Given the description of an element on the screen output the (x, y) to click on. 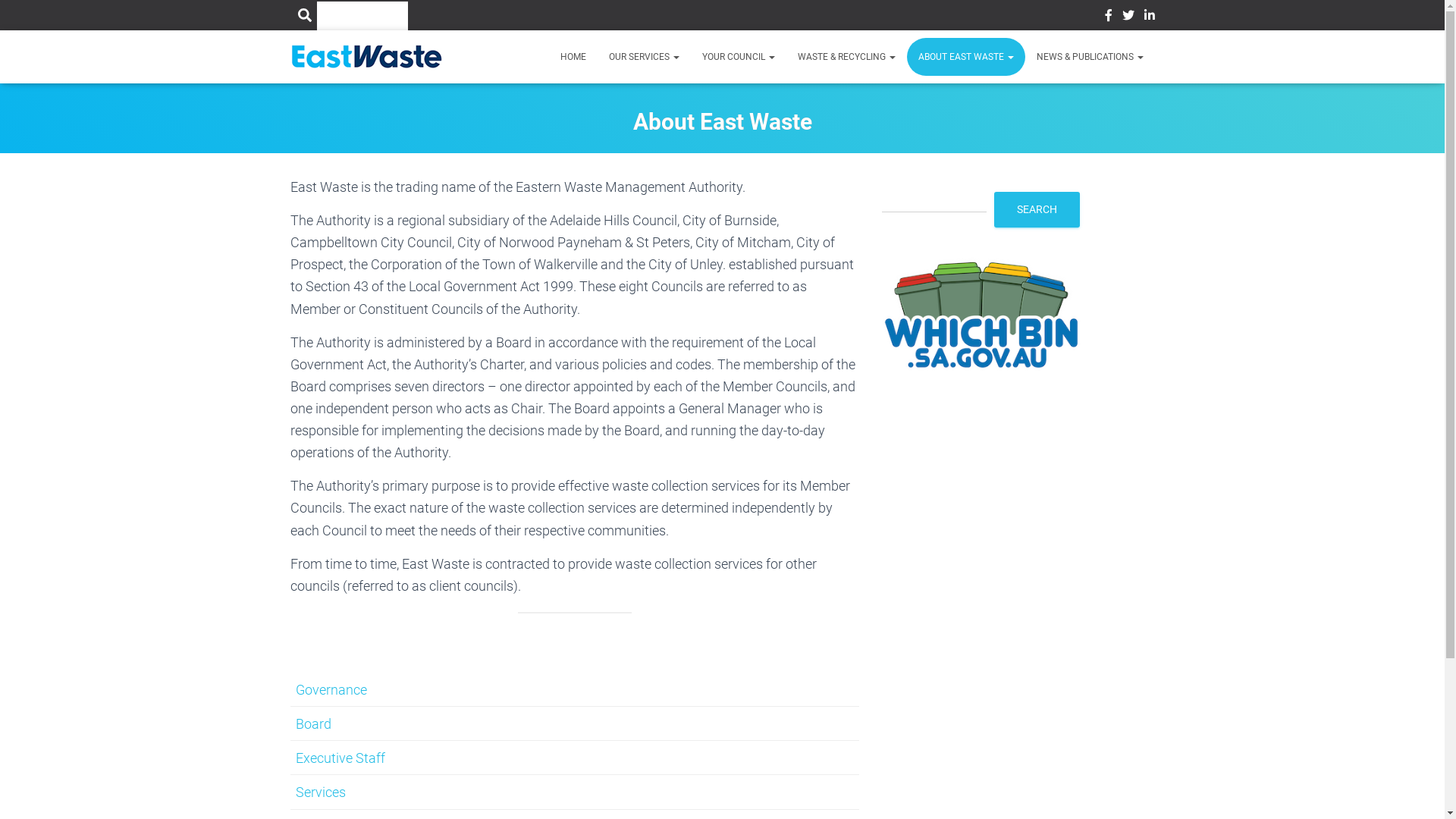
Executive Staff Element type: text (340, 757)
ABOUT EAST WASTE Element type: text (965, 56)
HOME Element type: text (573, 56)
NEWS & PUBLICATIONS Element type: text (1089, 56)
WASTE & RECYCLING Element type: text (845, 56)
East Waste Element type: hover (366, 56)
Twitter Element type: text (1128, 17)
LinkedIn Element type: text (1148, 17)
Board Element type: text (313, 723)
Governance Element type: text (331, 689)
YOUR COUNCIL Element type: text (737, 56)
Services Element type: text (320, 792)
Facebook Element type: text (1107, 17)
OUR SERVICES Element type: text (643, 56)
SEARCH Element type: text (1036, 209)
